Given the description of an element on the screen output the (x, y) to click on. 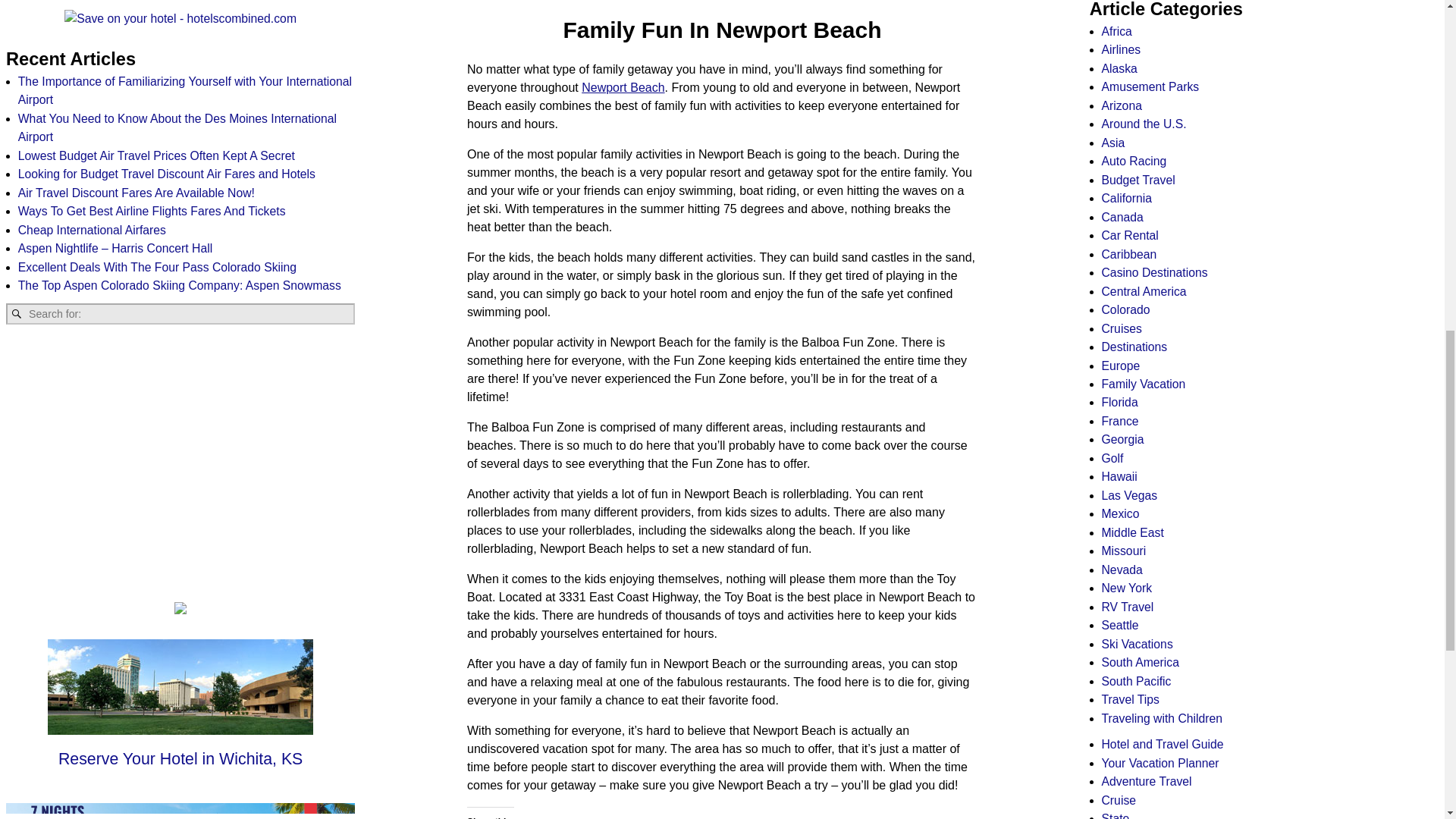
Newport Beach (621, 86)
Save on your hotel - hotelscombined.com (180, 18)
